Given the description of an element on the screen output the (x, y) to click on. 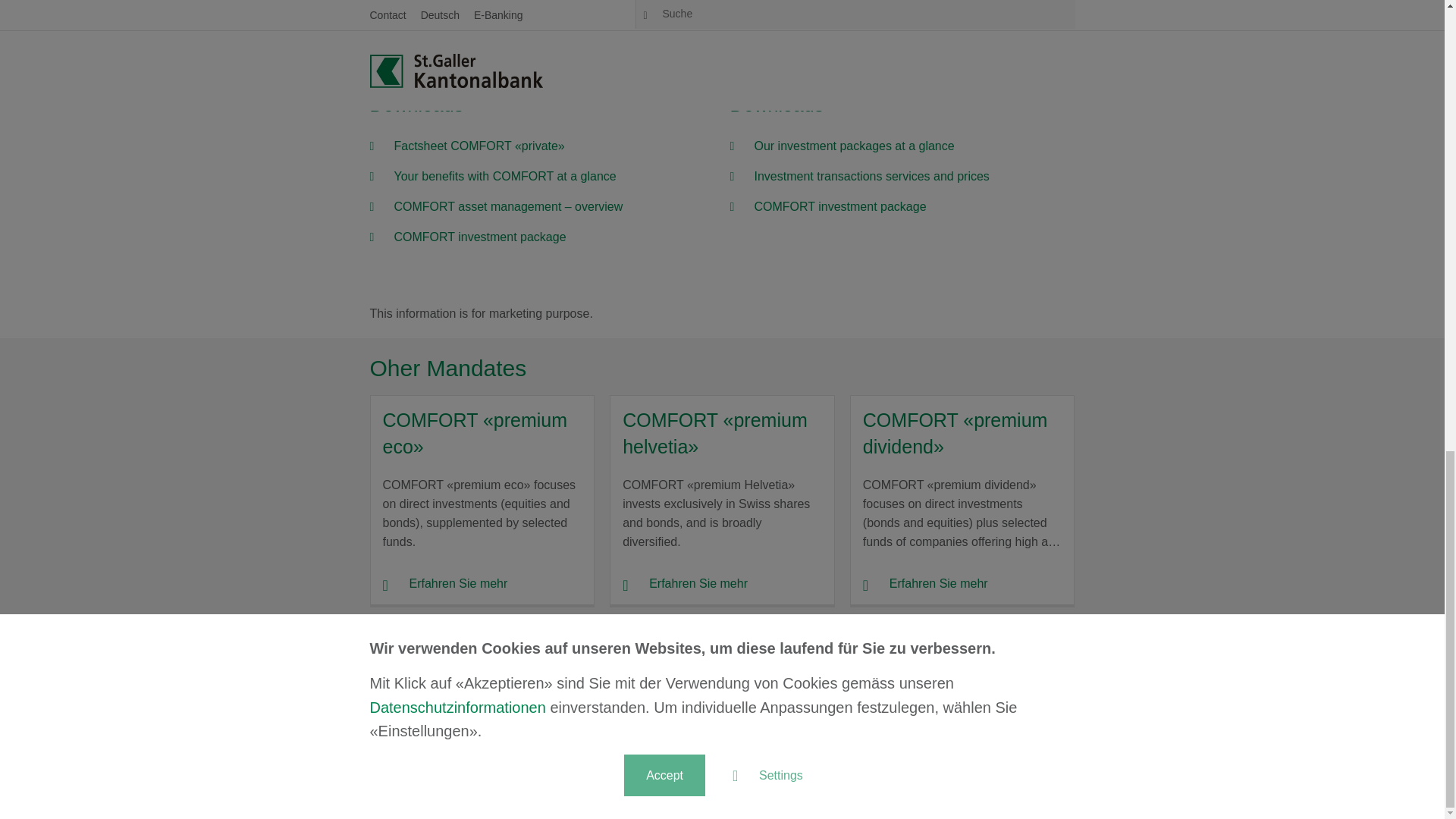
Erfahren Sie mehr (443, 582)
Investment transactions services and prices (871, 175)
Your benefits with COMFORT at a glance (504, 175)
COMFORT investment package (840, 205)
SGKB App - Apple Appstore (778, 785)
Our investment packages at a glance (853, 145)
SGKB App - Google Play (671, 785)
COMFORT investment package (480, 236)
